Given the description of an element on the screen output the (x, y) to click on. 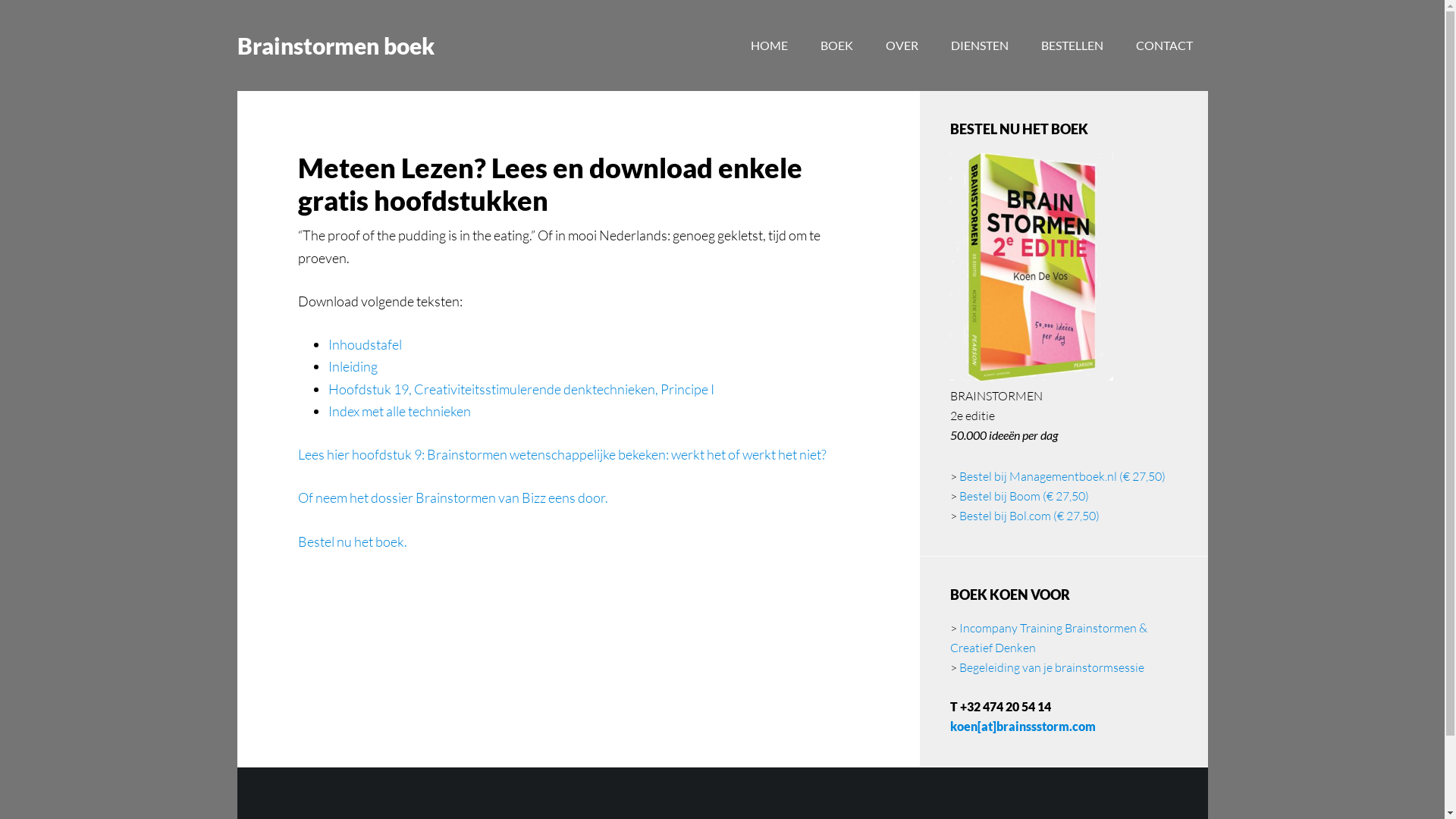
Begeleiding van je brainstormsessie Element type: text (1050, 666)
Inhoudstafel Element type: text (364, 343)
Brainstormen boek Element type: text (334, 45)
Bestel nu het boek. Element type: text (351, 541)
koen[at]brainssstorm.com Element type: text (1022, 725)
Inleiding Element type: text (351, 365)
BESTELLEN Element type: text (1071, 45)
CONTACT Element type: text (1164, 45)
Bestel nu het boek Element type: hover (1030, 375)
HOME Element type: text (769, 45)
Of neem het dossier Brainstormen van Bizz eens door. Element type: text (452, 497)
OVER Element type: text (901, 45)
DIENSTEN Element type: text (979, 45)
Incompany Training Brainstormen & Creatief Denken Element type: text (1047, 637)
Skip to main content Element type: text (0, 0)
BOEK Element type: text (836, 45)
Index met alle technieken Element type: text (398, 410)
